Given the description of an element on the screen output the (x, y) to click on. 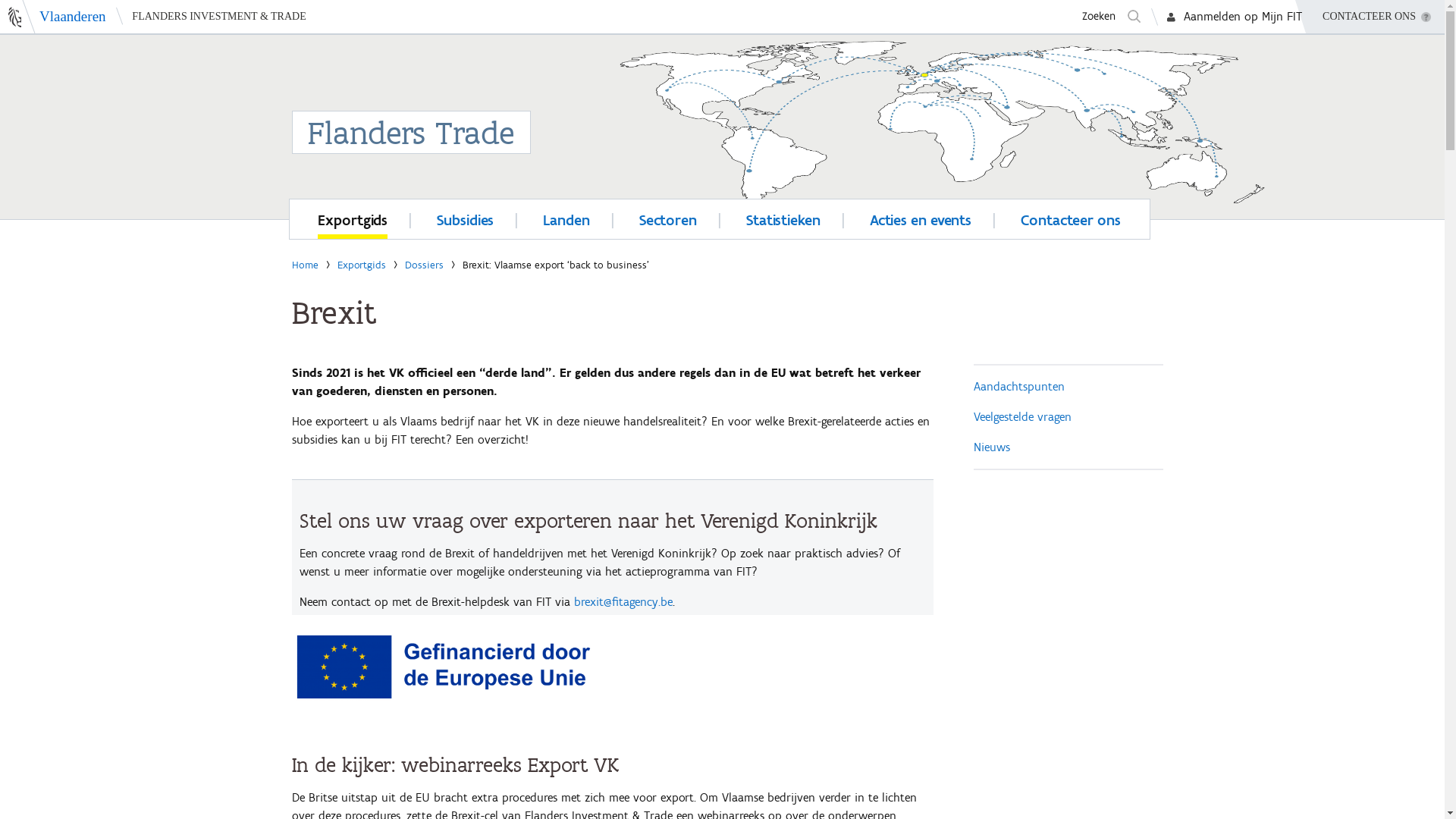
Contacteer ons Element type: text (1070, 217)
Nieuws Element type: text (991, 446)
Aanmelden op Mijn FIT Element type: text (1242, 16)
Dossiers Element type: text (423, 264)
brexit@fitagency.be Element type: text (622, 601)
Zoeken Element type: text (1109, 16)
Overslaan en naar de inhoud gaan Element type: text (89, 34)
Veelgestelde vragen Element type: text (1022, 416)
Vlaanderen Element type: text (53, 16)
Home Element type: text (304, 264)
Acties en events Element type: text (920, 217)
Sectoren Element type: text (667, 217)
Exportgids Element type: text (360, 264)
FLANDERS INVESTMENT & TRADE Element type: text (210, 16)
Exportgids Element type: text (352, 217)
Subsidies Element type: text (464, 217)
Aandachtspunten Element type: text (1018, 386)
Statistieken Element type: text (783, 217)
Landen Element type: text (566, 217)
Flanders Trade Element type: text (721, 112)
CONTACTEER ONS Element type: text (1369, 16)
